Given the description of an element on the screen output the (x, y) to click on. 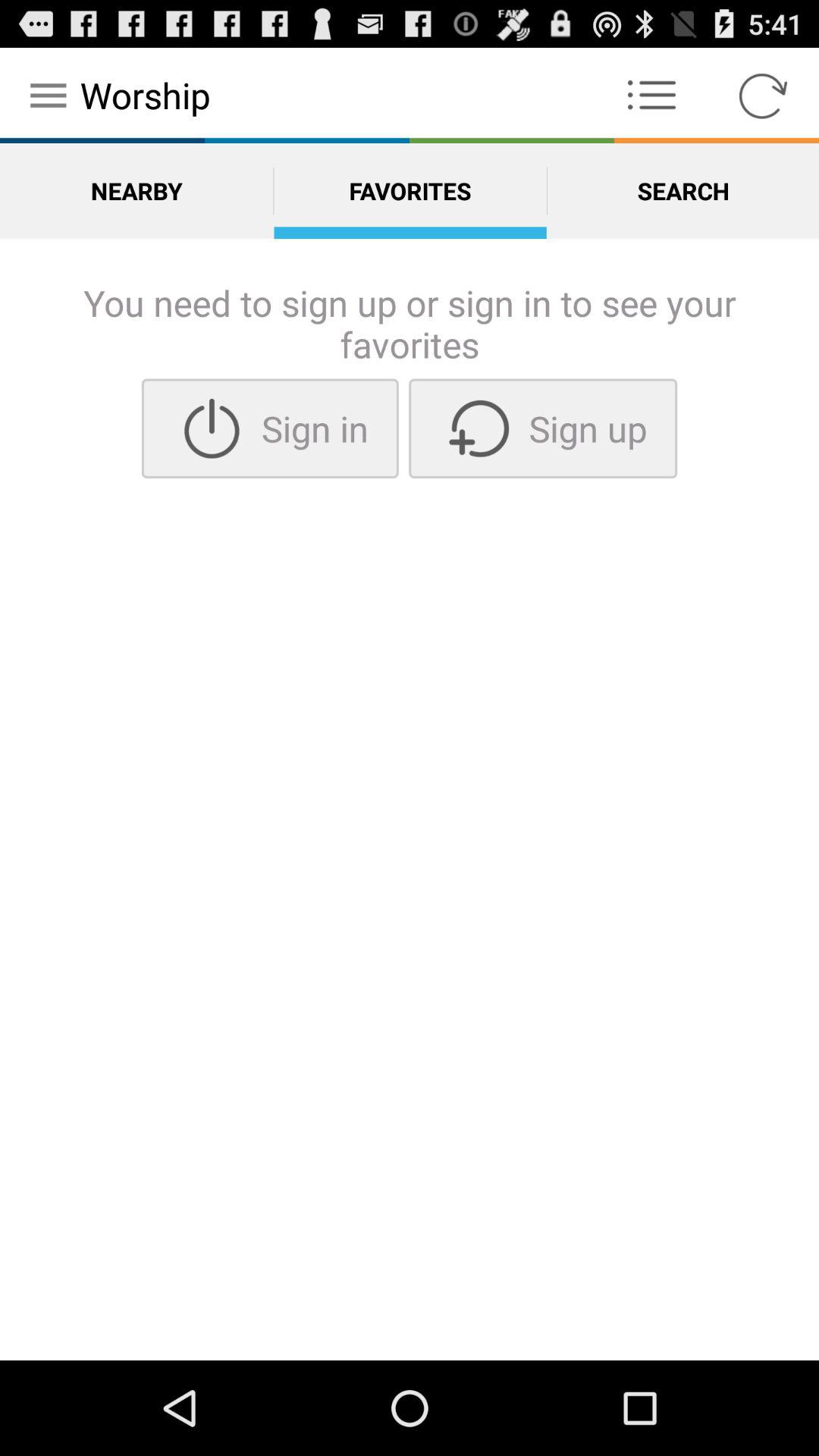
click the icon to the right of the worship app (651, 95)
